Given the description of an element on the screen output the (x, y) to click on. 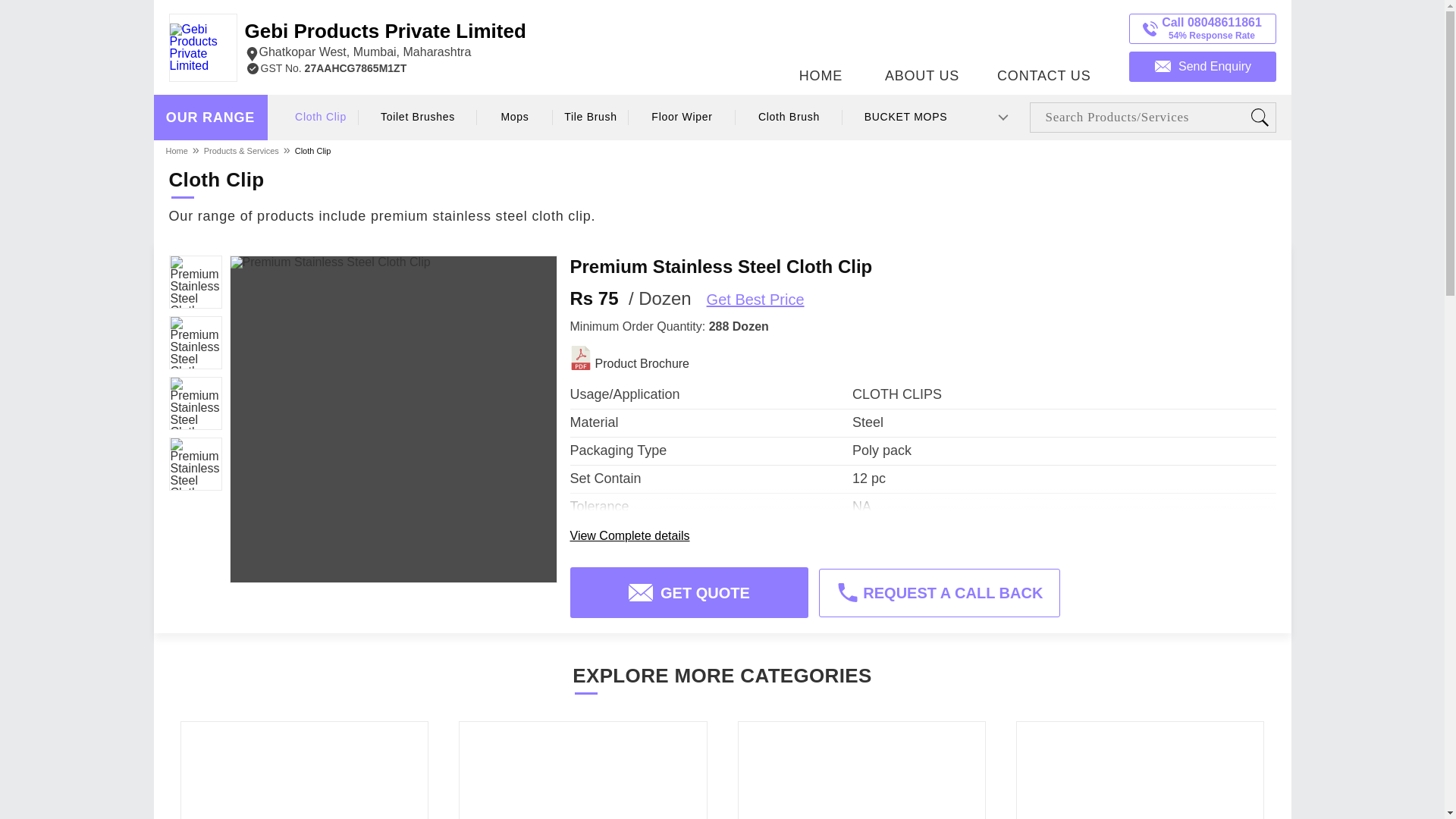
Cloth Clip (320, 117)
OUR RANGE (209, 117)
BUCKET MOPS (906, 117)
Toilet Brushes (418, 117)
CONTACT US (1043, 43)
Mops (515, 117)
Floor Wiper (681, 117)
Cloth Clip (312, 150)
ABOUT US (921, 43)
Tile Brush (590, 117)
Home (176, 150)
Cloth Brush (788, 117)
